Given the description of an element on the screen output the (x, y) to click on. 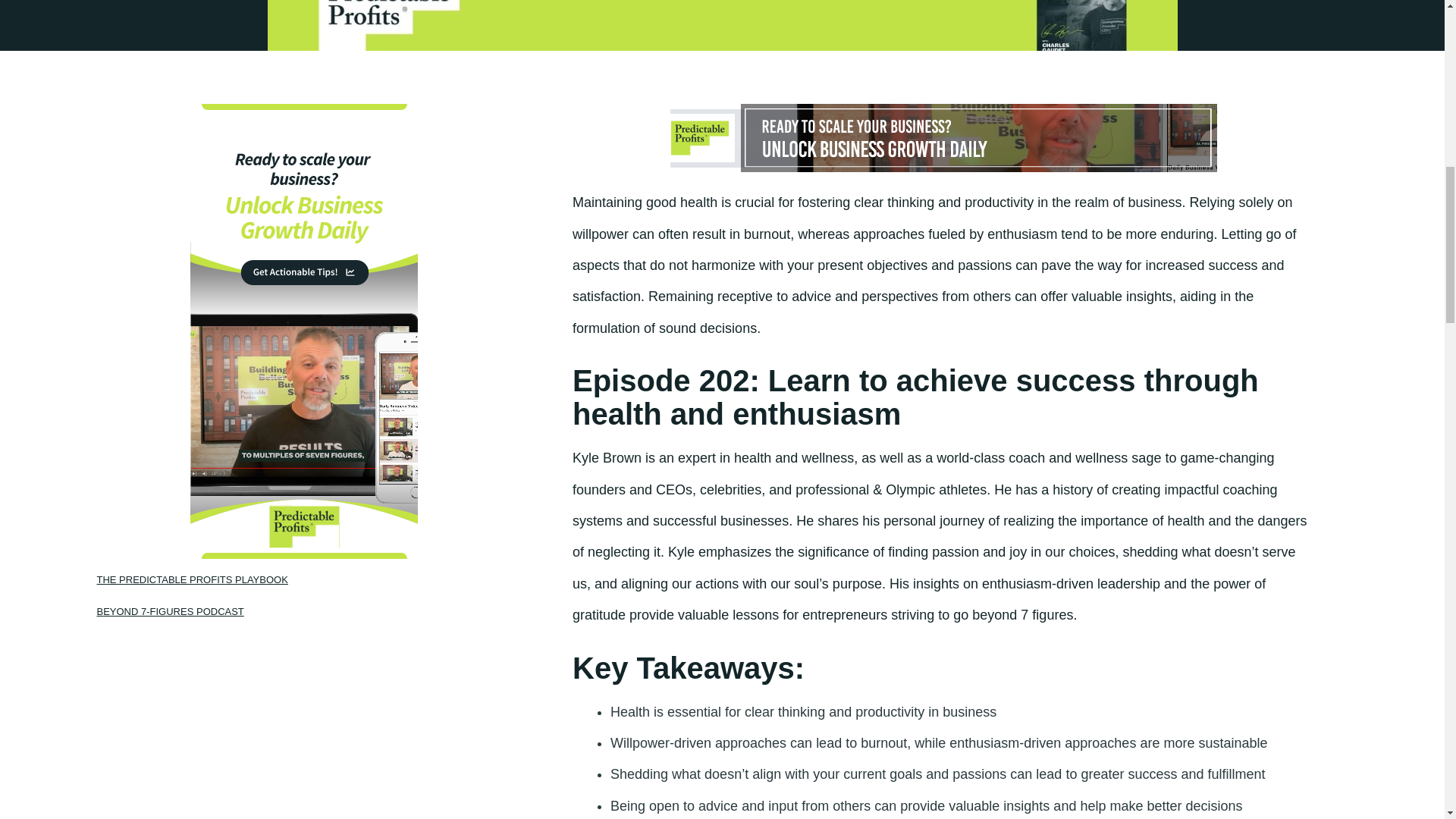
BEYOND 7-FIGURES PODCAST (170, 611)
THE PREDICTABLE PROFITS PLAYBOOK (192, 579)
